Given the description of an element on the screen output the (x, y) to click on. 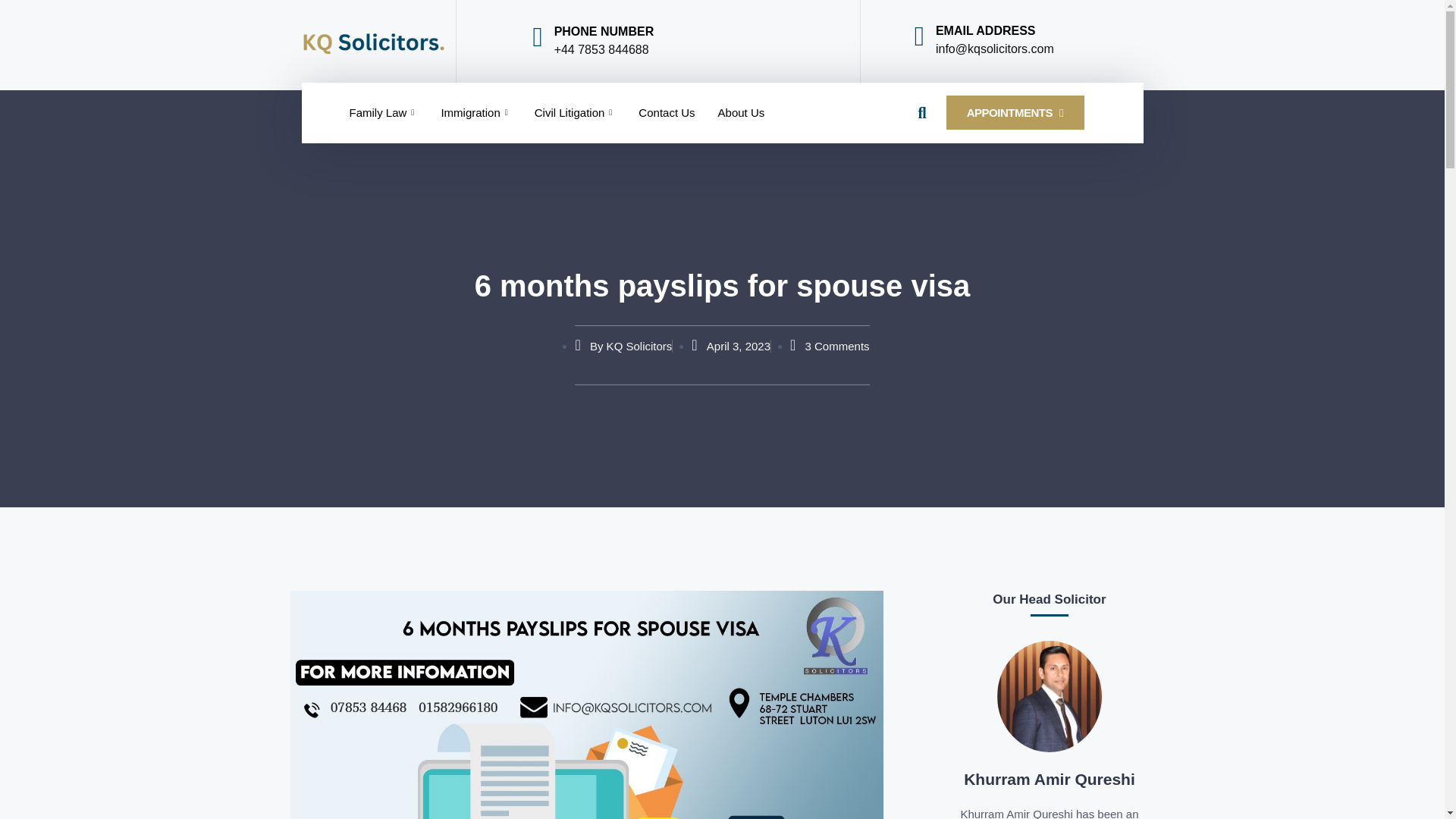
April 3, 2023 (730, 345)
Civil Litigation (574, 112)
Contact Us (666, 112)
By KQ Solicitors (623, 345)
Immigration (475, 112)
APPOINTMENTS (1015, 112)
About Us (741, 112)
Family Law (383, 112)
3 Comments (829, 345)
